Given the description of an element on the screen output the (x, y) to click on. 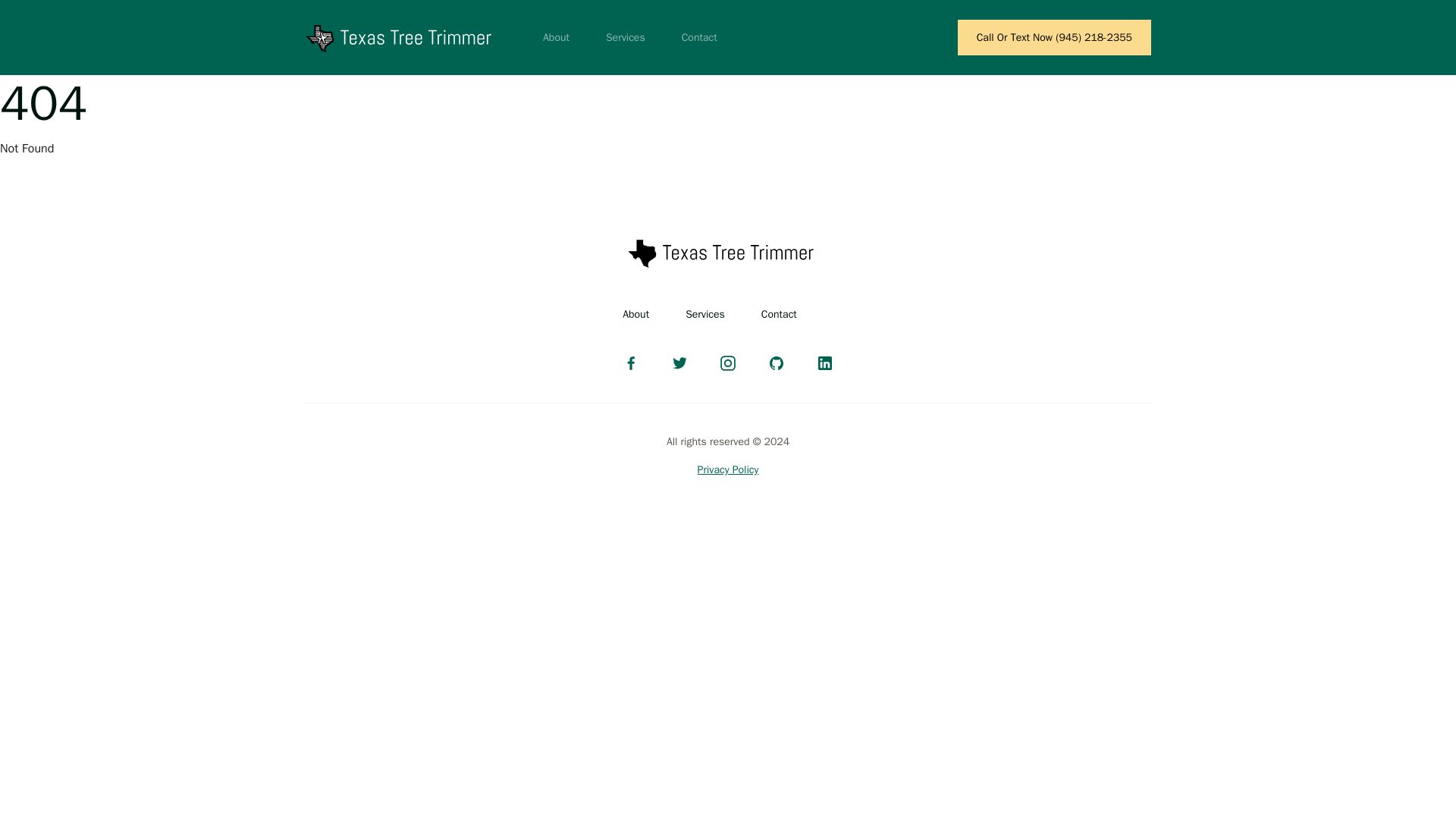
Privacy Policy (727, 469)
About (636, 314)
About (556, 37)
Contact (699, 37)
Services (625, 37)
Contact (778, 314)
Services (705, 314)
